Given the description of an element on the screen output the (x, y) to click on. 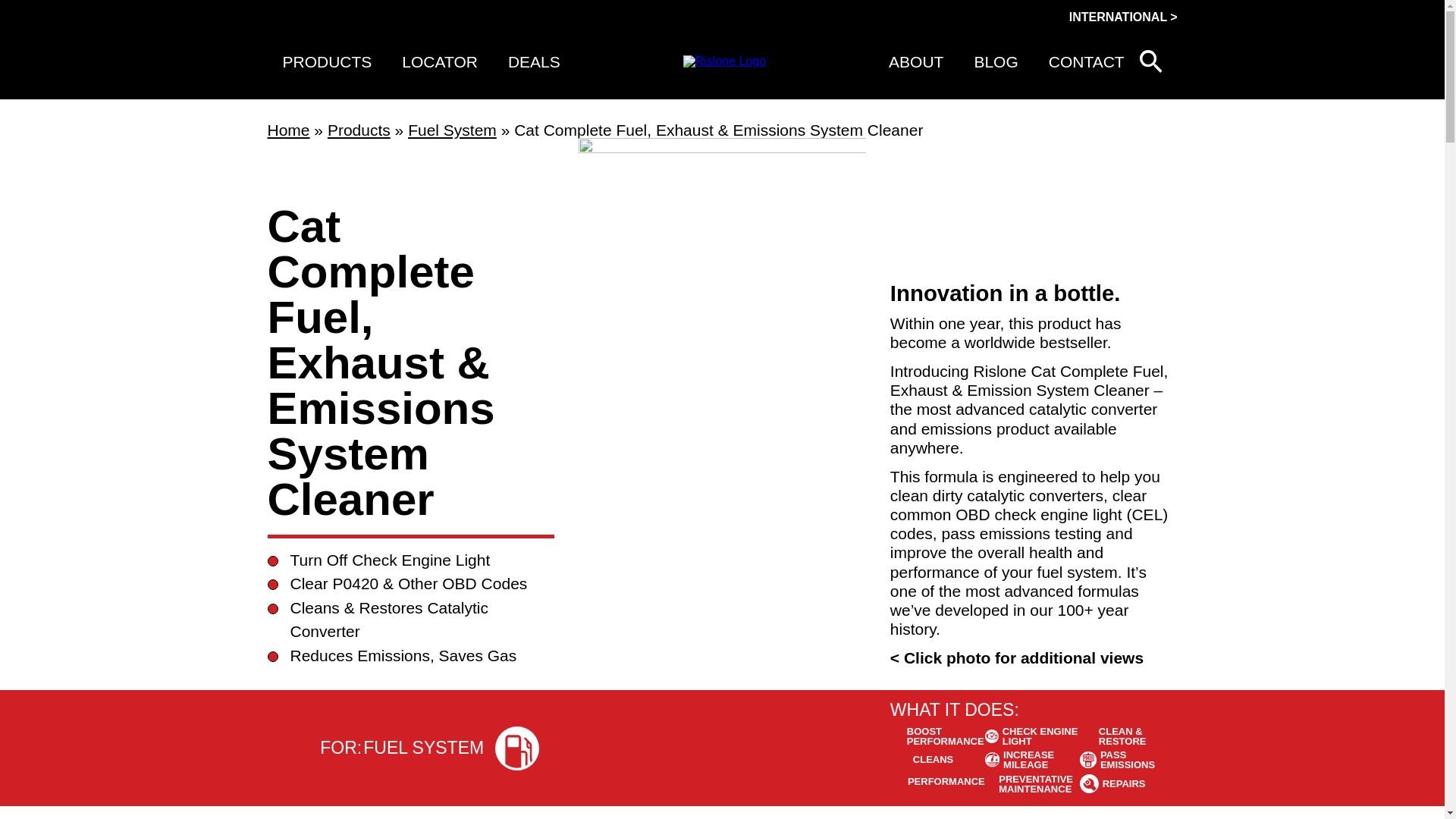
PRODUCTS (326, 61)
INTERNATIONAL (1122, 16)
Rislone home (723, 61)
